Given the description of an element on the screen output the (x, y) to click on. 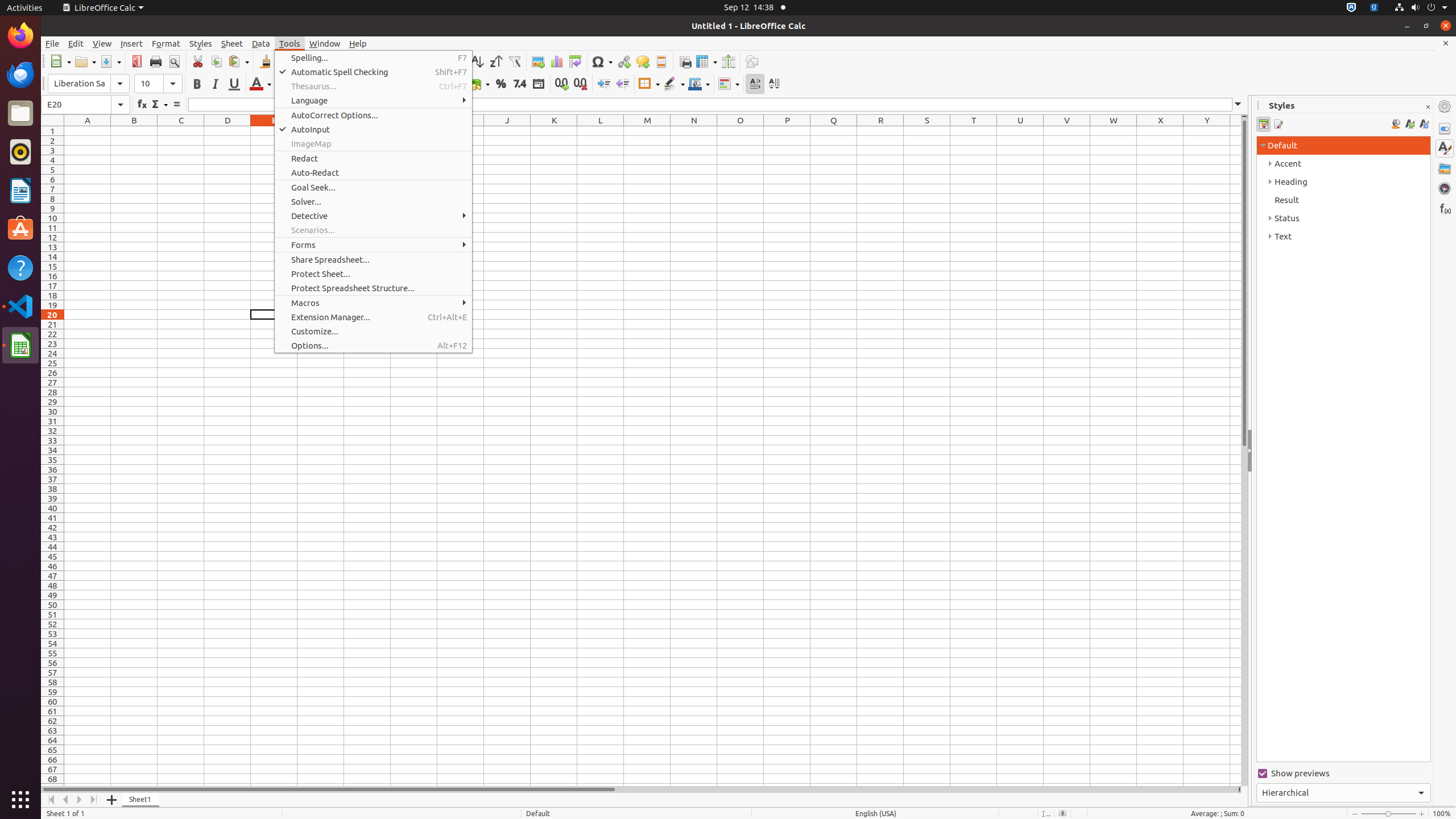
Sort Descending Element type: push-button (495, 61)
AutoFilter Element type: push-button (514, 61)
Options... Element type: menu-item (373, 345)
Visual Studio Code Element type: push-button (20, 306)
X1 Element type: table-cell (1159, 130)
